Given the description of an element on the screen output the (x, y) to click on. 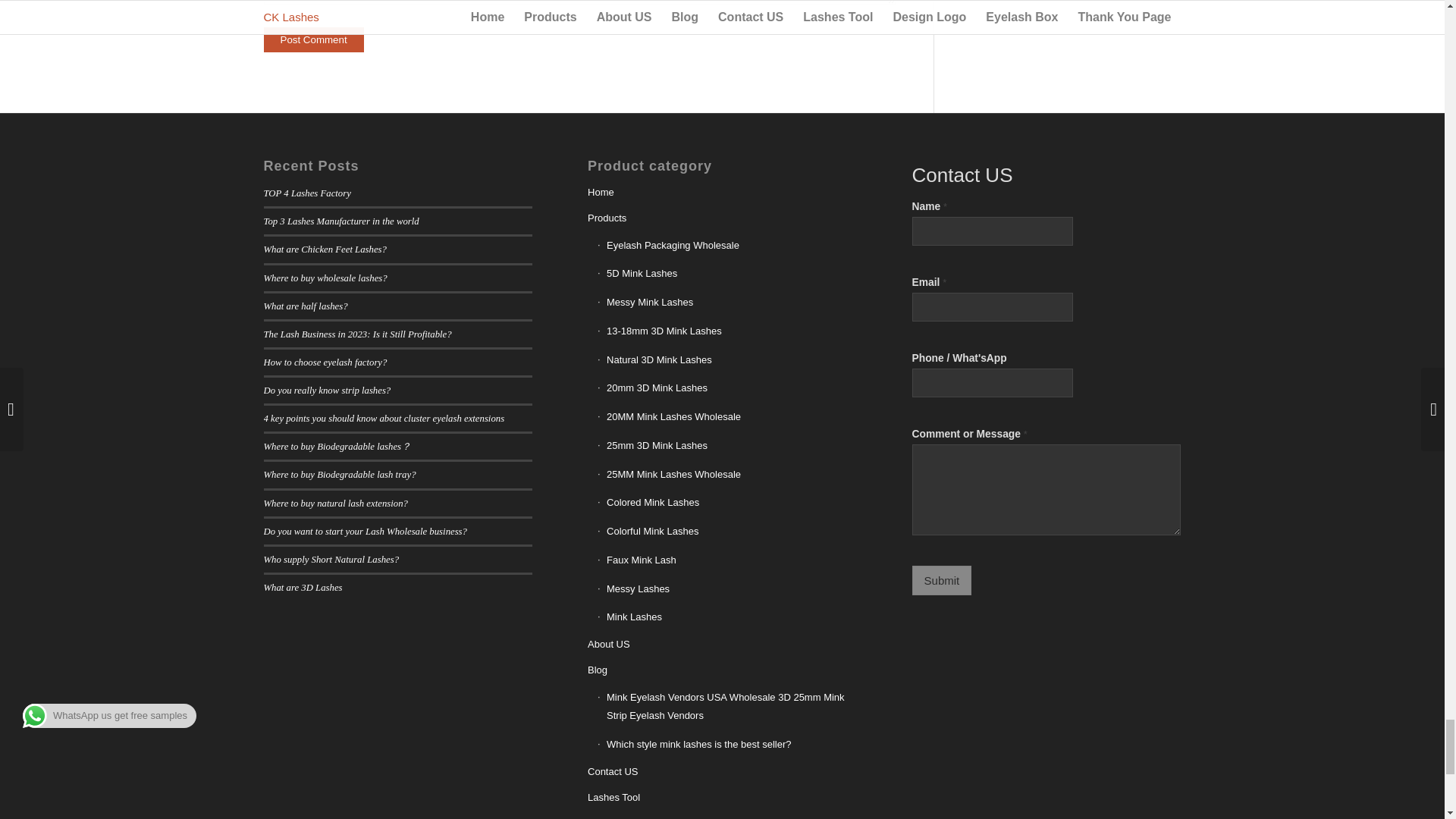
Post Comment (313, 39)
